Given the description of an element on the screen output the (x, y) to click on. 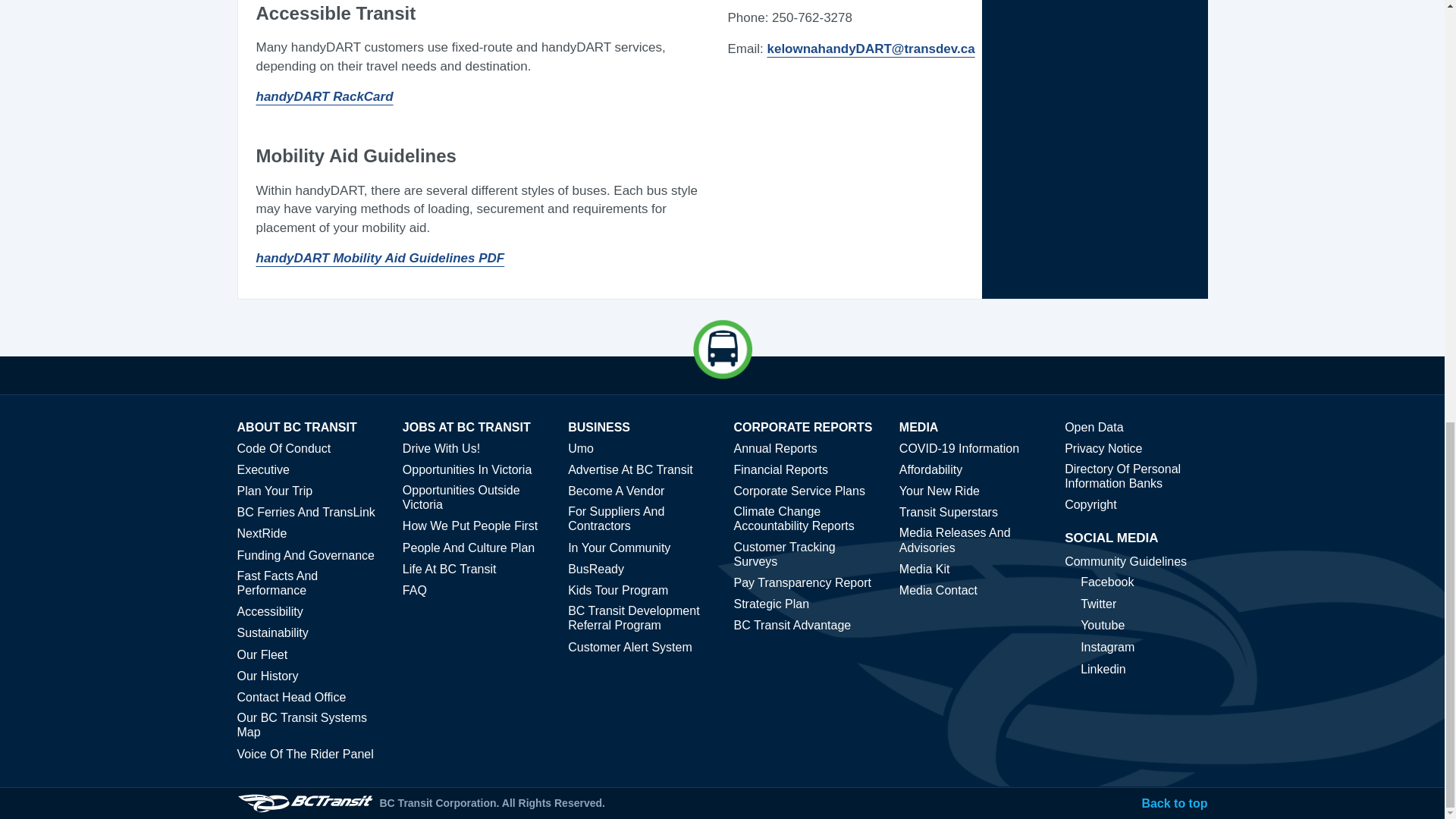
Back to top (1174, 803)
